Given the description of an element on the screen output the (x, y) to click on. 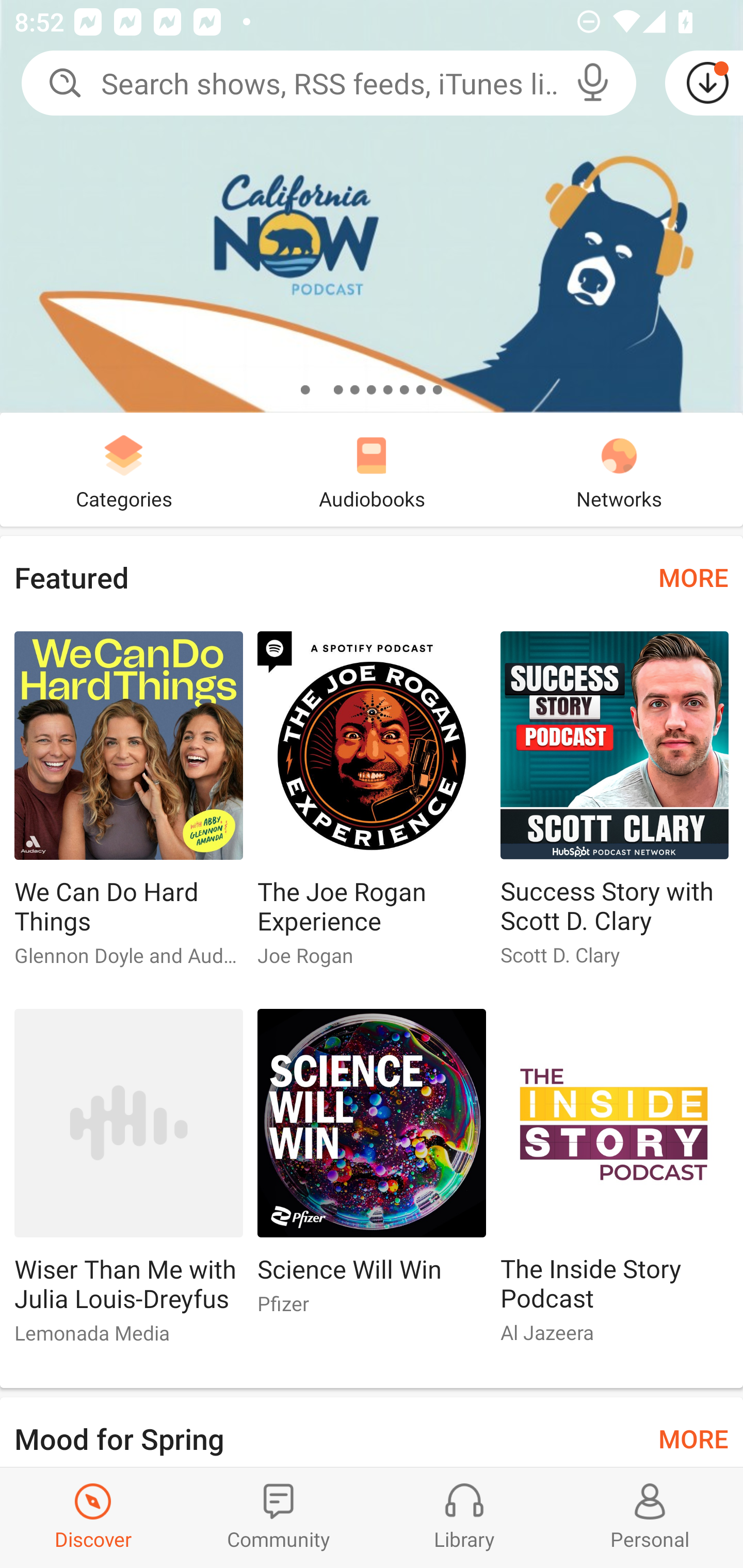
California Now Podcast (371, 206)
Categories (123, 469)
Audiobooks (371, 469)
Networks (619, 469)
MORE (693, 576)
Science Will Win Science Will Win Pfizer (371, 1169)
MORE (693, 1436)
Discover (92, 1517)
Community (278, 1517)
Library (464, 1517)
Profiles and Settings Personal (650, 1517)
